Given the description of an element on the screen output the (x, y) to click on. 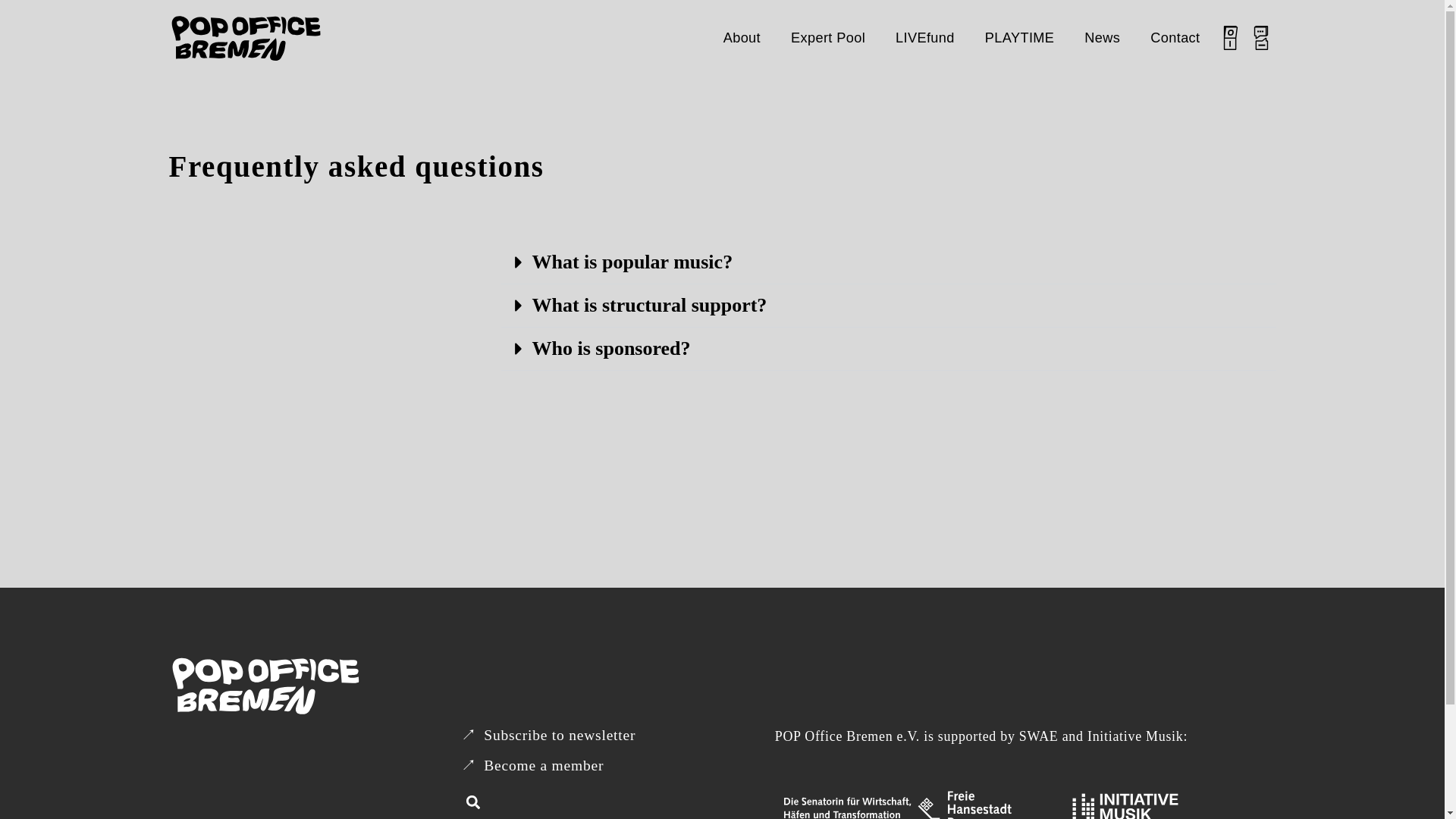
Contact (1174, 37)
PLAYTIME (1019, 37)
Expert Pool (828, 37)
LIVEfund (924, 37)
About (741, 37)
News (1101, 37)
